Given the description of an element on the screen output the (x, y) to click on. 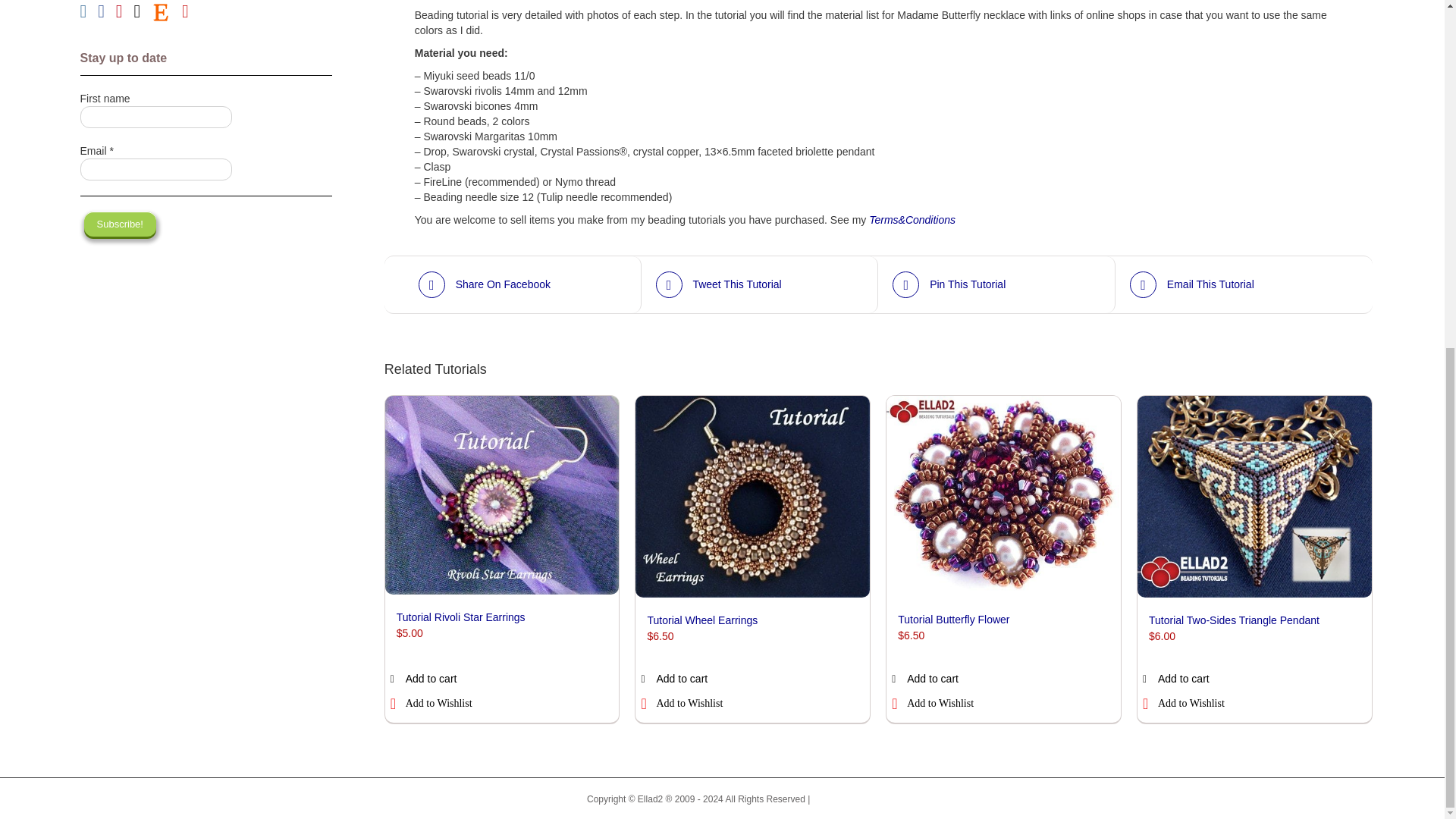
Subscribe! (119, 223)
